Given the description of an element on the screen output the (x, y) to click on. 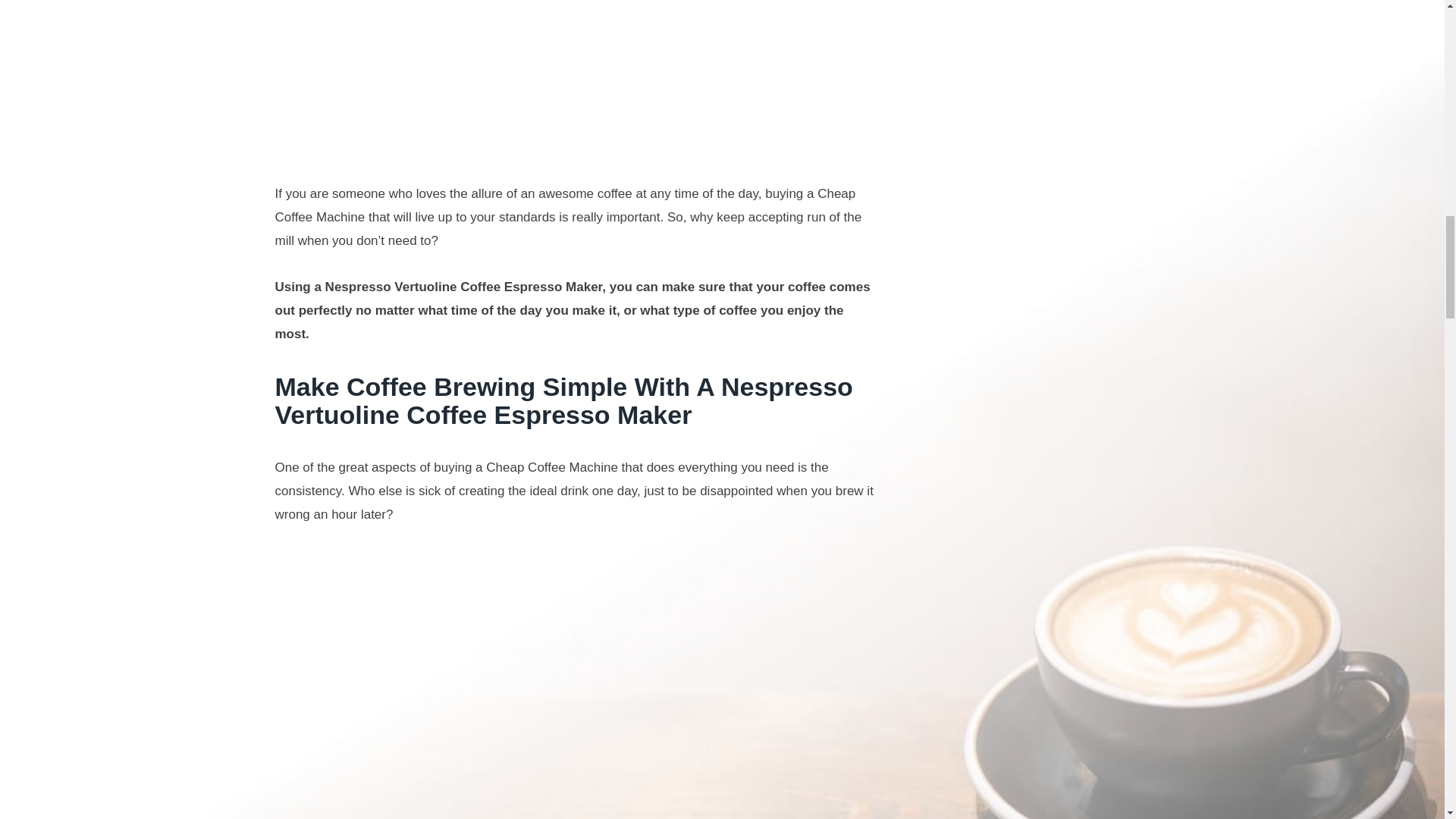
Best Home Coffee Roaster (573, 75)
Best Coffee Maker Philippines (573, 683)
